Given the description of an element on the screen output the (x, y) to click on. 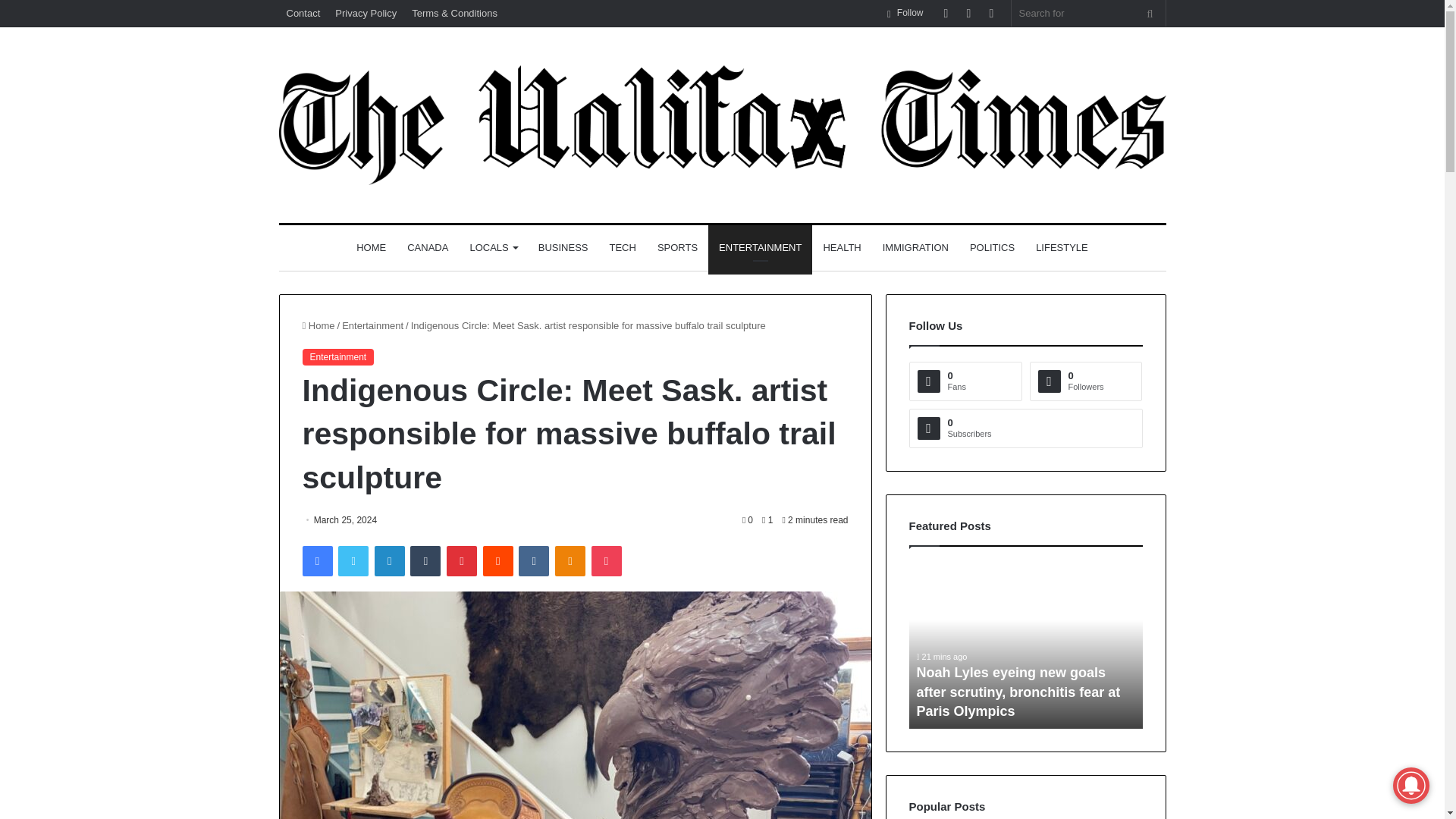
HEALTH (841, 248)
Entertainment (337, 356)
LinkedIn (389, 561)
Facebook (316, 561)
Odnoklassniki (569, 561)
Home (317, 325)
Privacy Policy (365, 13)
BUSINESS (562, 248)
Entertainment (372, 325)
VKontakte (533, 561)
